Given the description of an element on the screen output the (x, y) to click on. 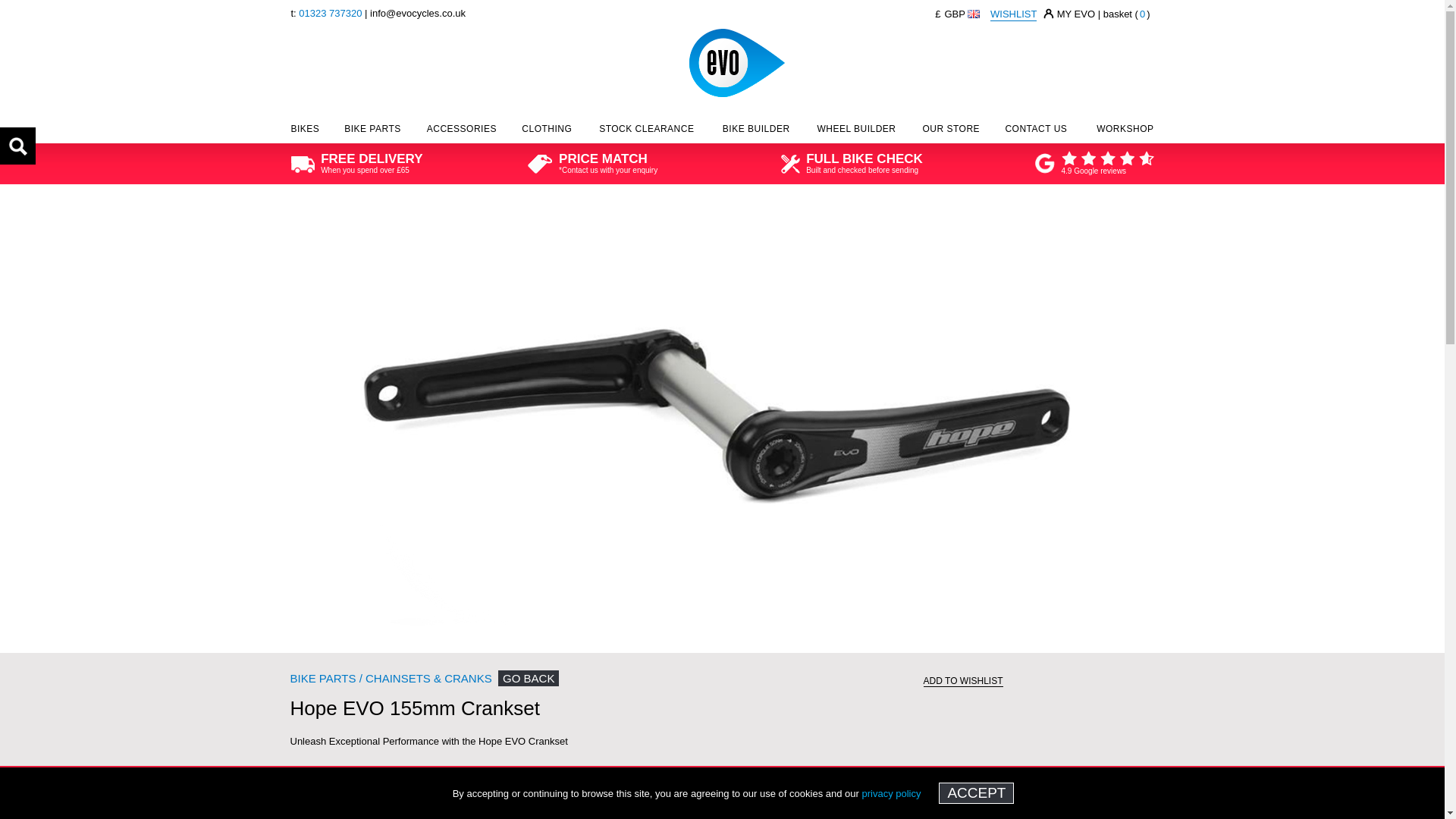
BIKE PARTS (372, 131)
basket (1126, 13)
Send Email (417, 12)
WISHLIST (1013, 14)
BIKES (305, 131)
BIKES (305, 131)
Evo Cycles (736, 25)
MY EVO (1075, 13)
Evo Cycles (736, 62)
